Given the description of an element on the screen output the (x, y) to click on. 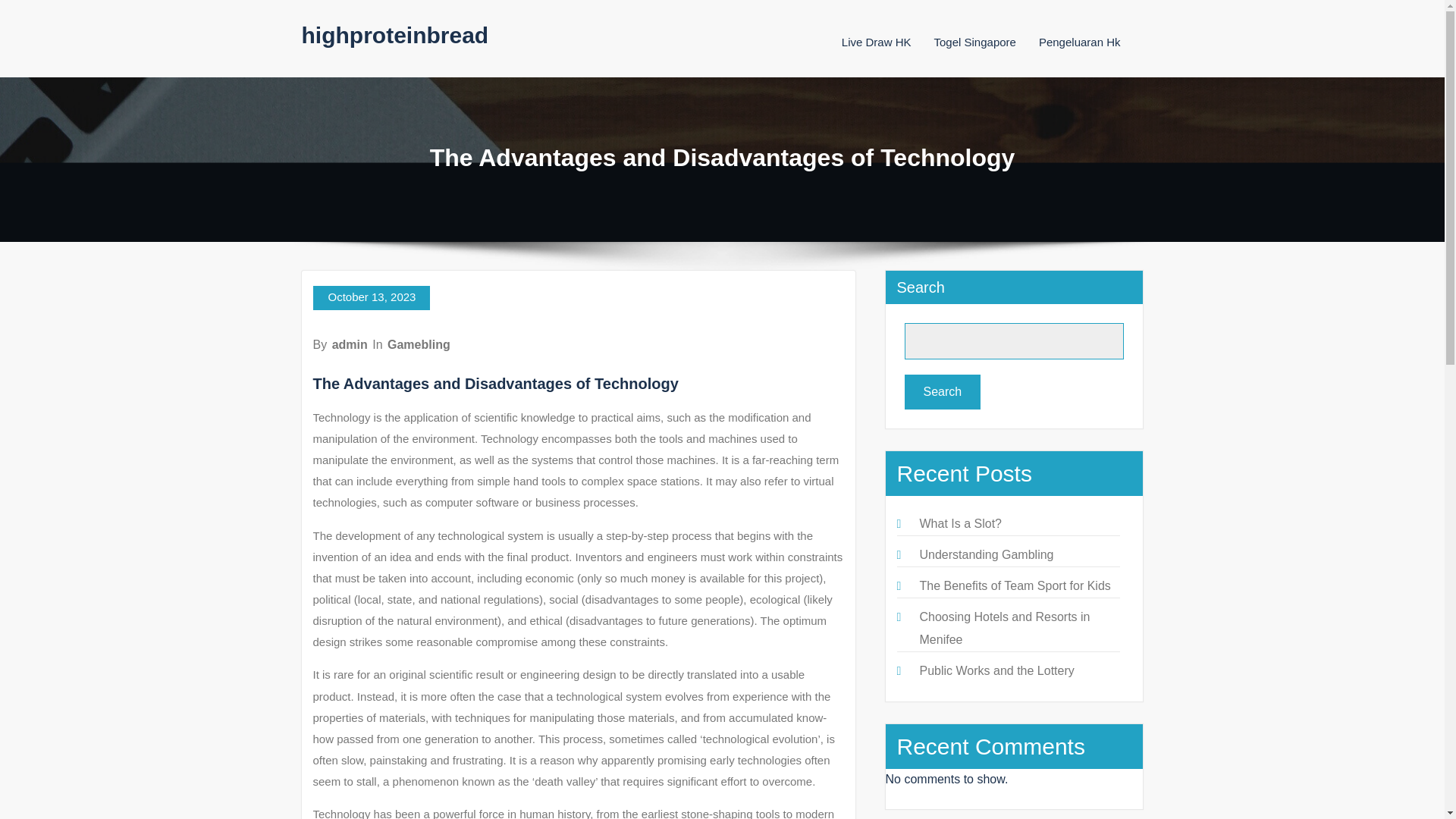
October 13, 2023 (371, 297)
Choosing Hotels and Resorts in Menifee (1003, 628)
The Benefits of Team Sport for Kids (1013, 585)
admin (349, 344)
Gamebling (418, 344)
What Is a Slot? (959, 522)
Live Draw HK (876, 41)
highproteinbread (395, 34)
Public Works and the Lottery (996, 670)
Togel Singapore (975, 41)
